Given the description of an element on the screen output the (x, y) to click on. 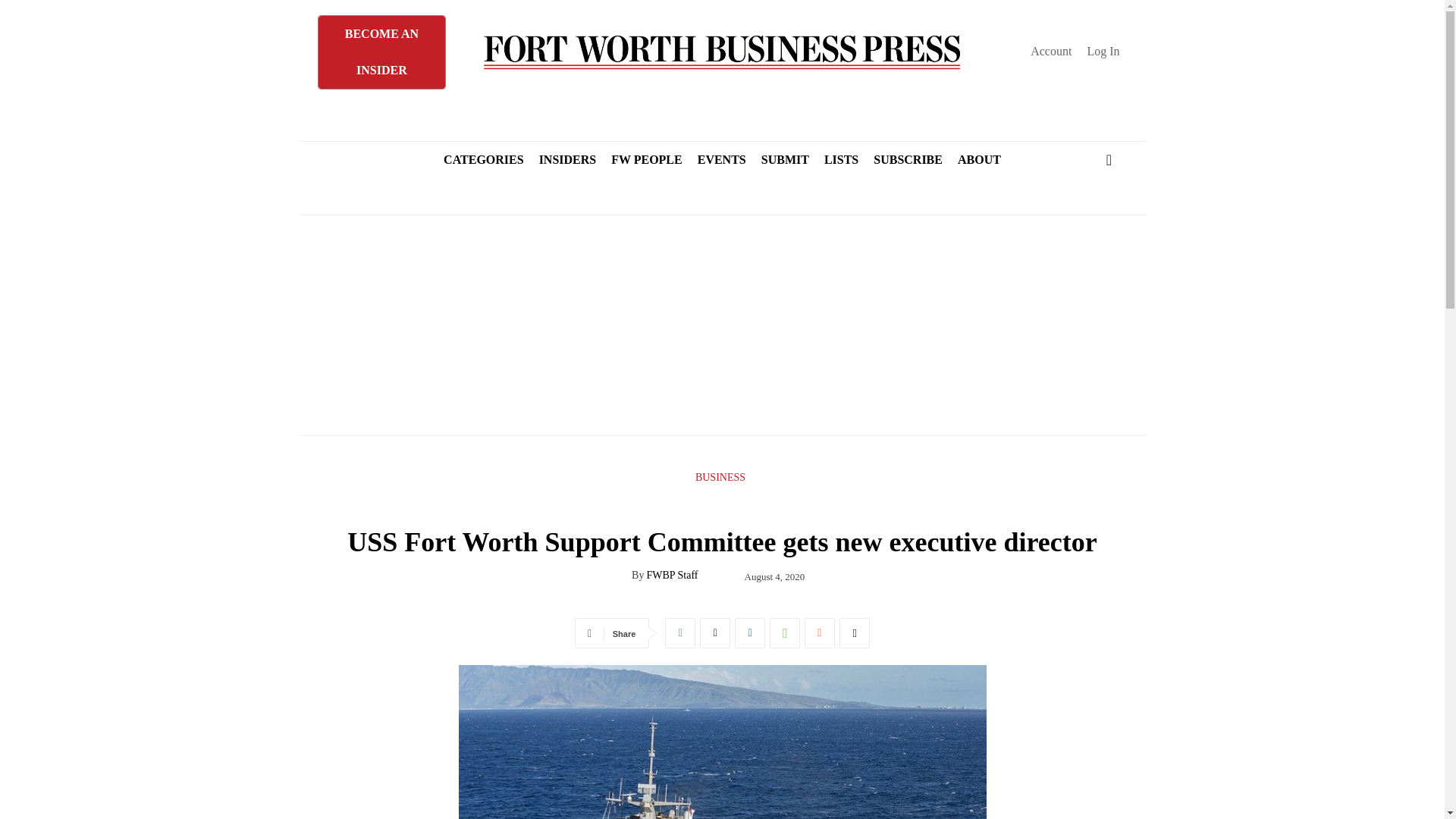
Facebook (680, 633)
Linkedin (750, 633)
Twitter (715, 633)
